Given the description of an element on the screen output the (x, y) to click on. 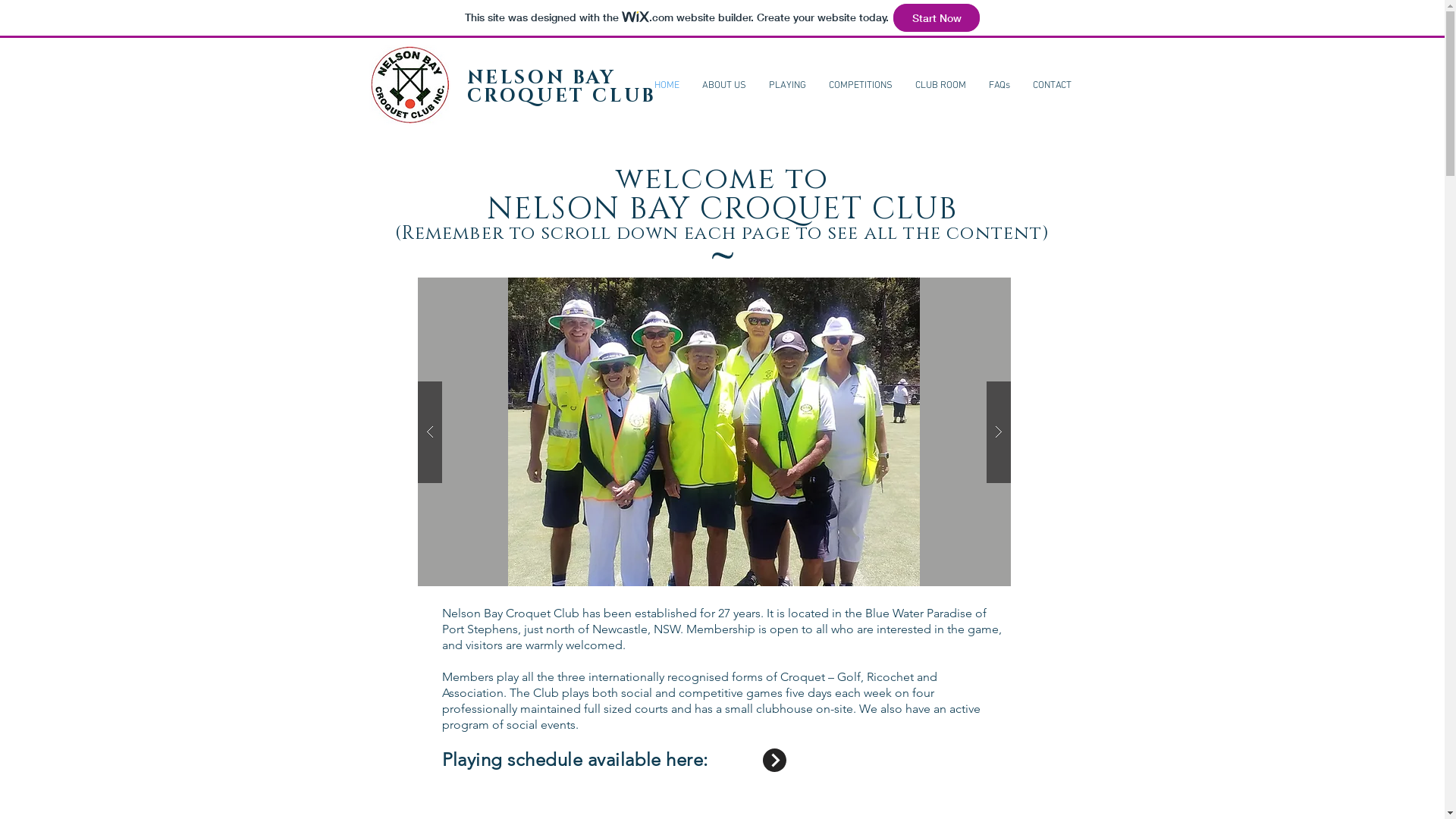
HOME Element type: text (666, 85)
CONTACT Element type: text (1051, 85)
NBCC white logo.jpg Element type: hover (409, 85)
FAQs Element type: text (998, 85)
NELSON BAY CROQUET CLUB Element type: text (561, 86)
